Given the description of an element on the screen output the (x, y) to click on. 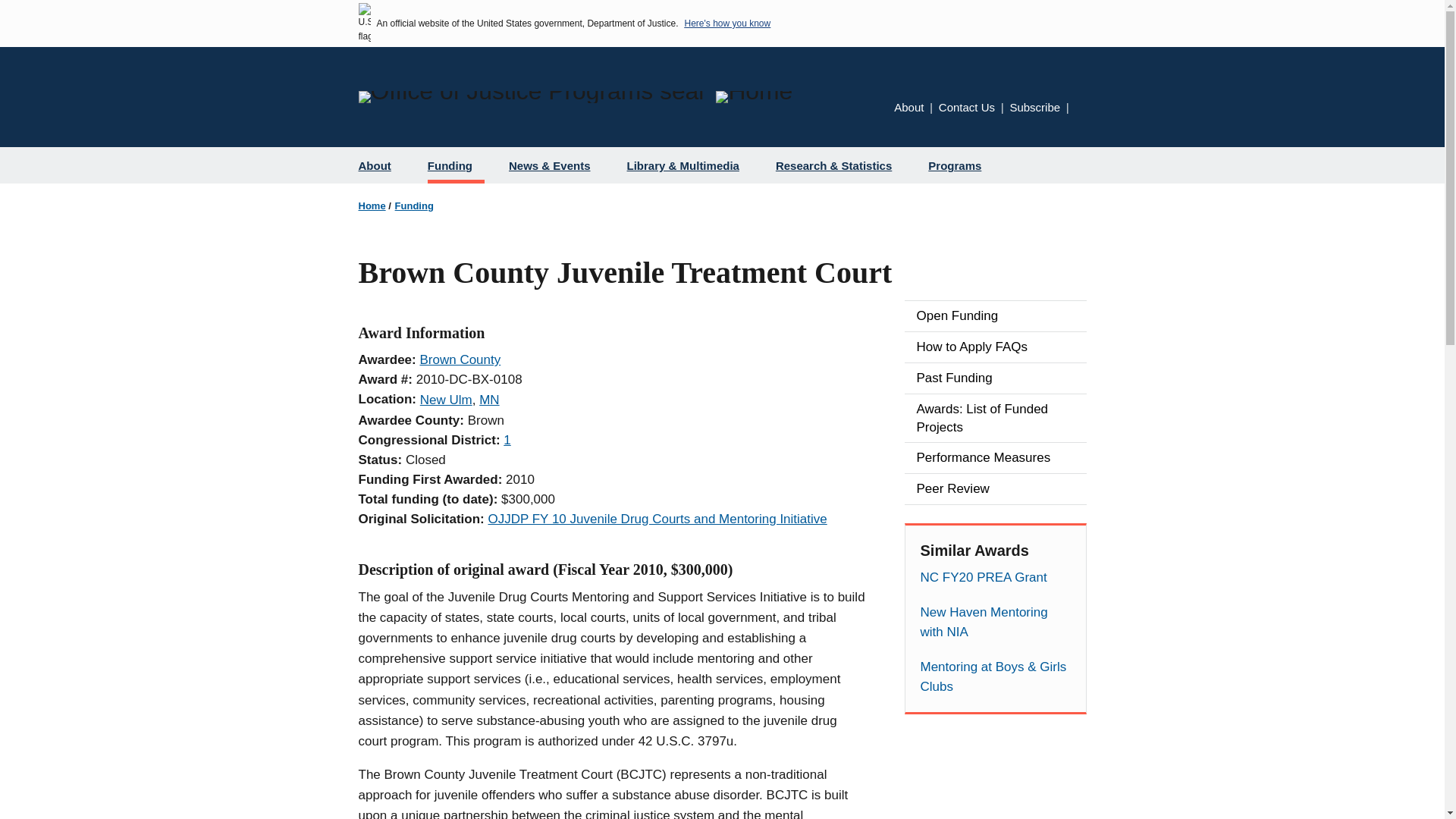
NC FY20 PREA Grant (995, 578)
Home (371, 205)
MN (489, 400)
Programs (960, 165)
Contact Us (966, 107)
New Haven Mentoring with NIA (995, 622)
Brown County (459, 359)
Performance Measures (995, 458)
New Haven Mentoring with NIA (995, 622)
Funding (413, 205)
Awards: List of Funded Projects (995, 418)
About (380, 165)
About (908, 107)
Past Funding (995, 378)
